Given the description of an element on the screen output the (x, y) to click on. 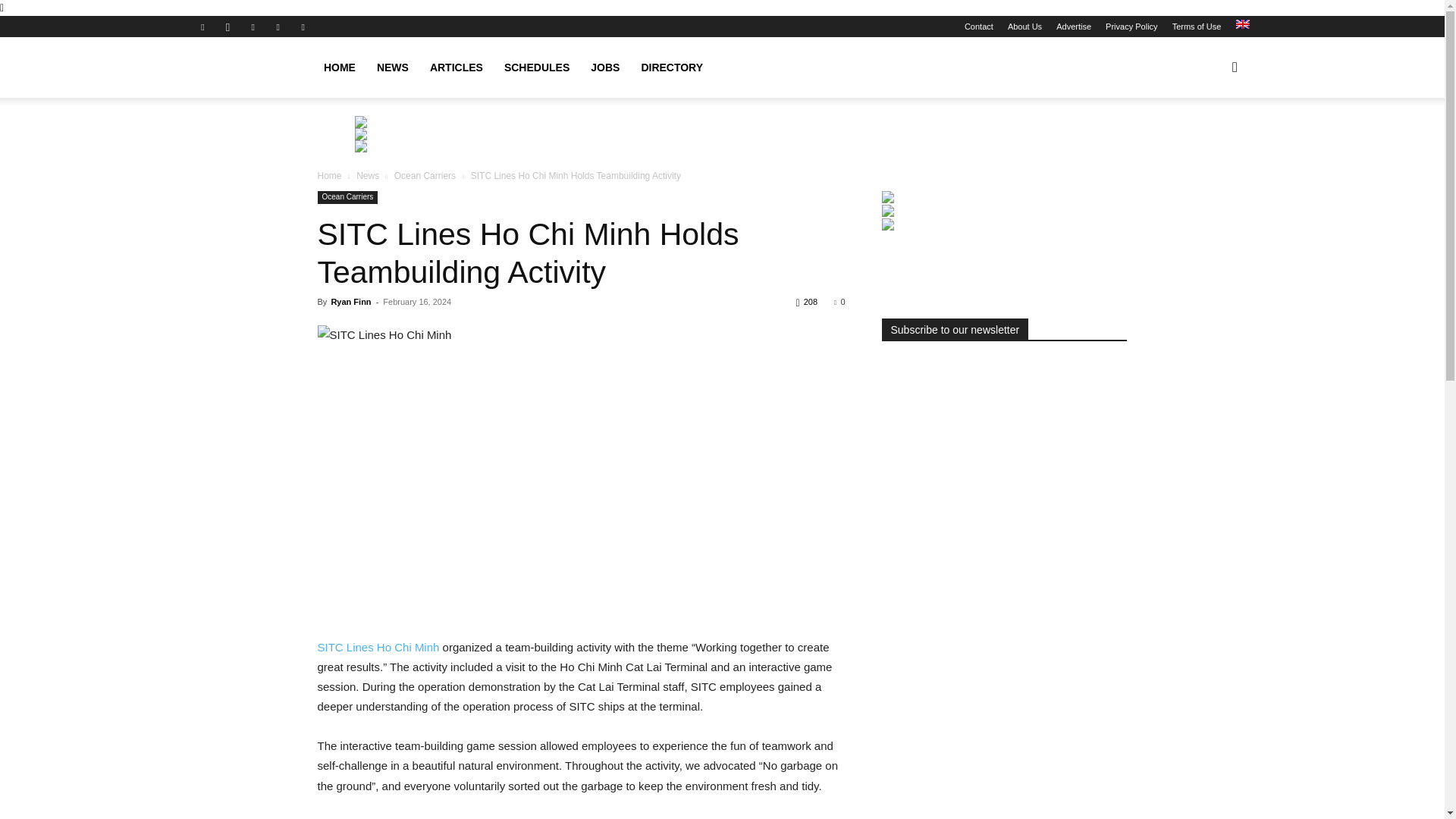
Contact (977, 26)
Linkedin (252, 25)
About Us (1024, 26)
Instagram (228, 25)
Twitter (277, 25)
Youtube (303, 25)
Terms of Use (1196, 26)
Facebook (202, 25)
Privacy Policy (1131, 26)
Advertise (1073, 26)
